Given the description of an element on the screen output the (x, y) to click on. 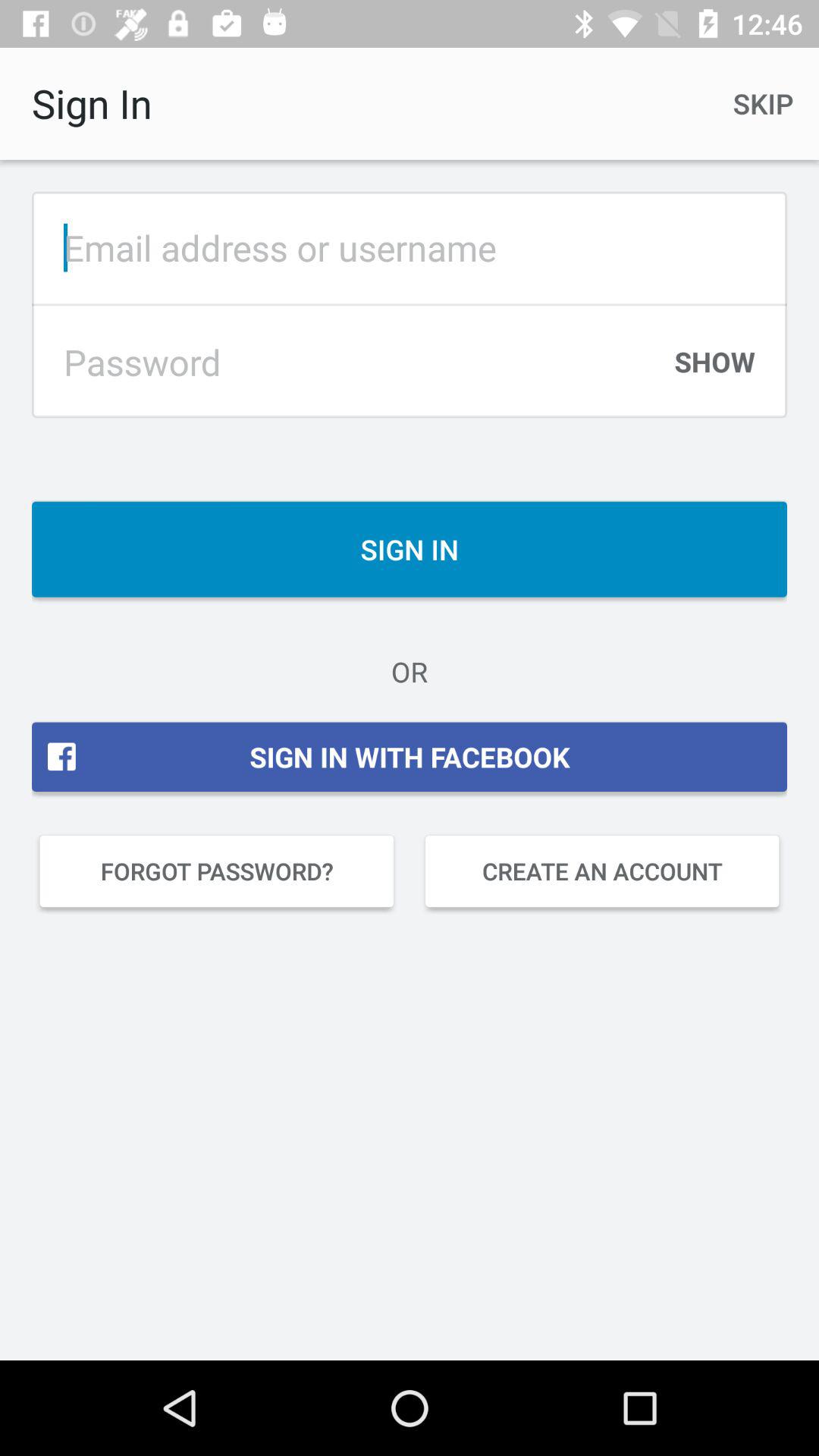
enter your password (349, 361)
